Given the description of an element on the screen output the (x, y) to click on. 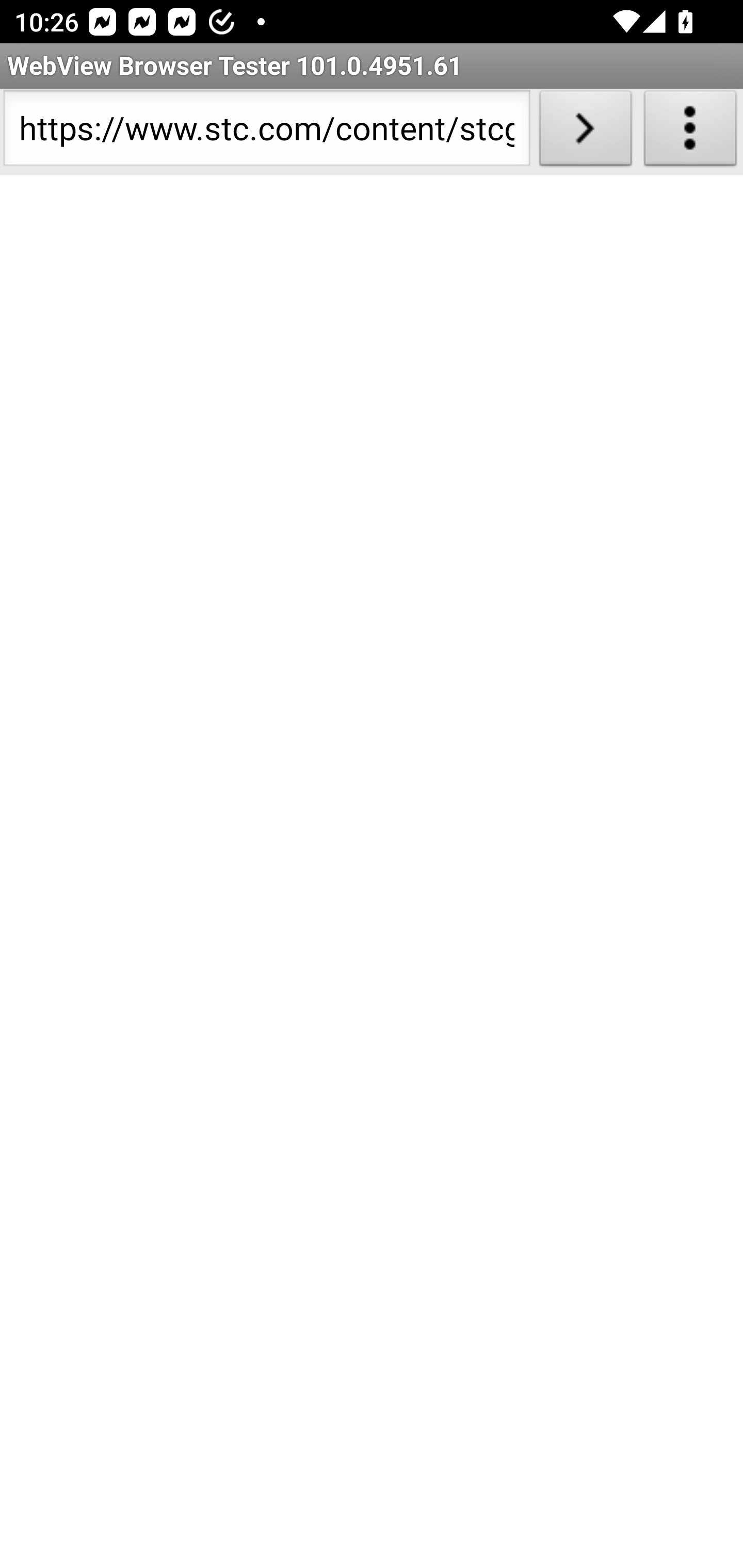
Load URL (585, 132)
About WebView (690, 132)
